Given the description of an element on the screen output the (x, y) to click on. 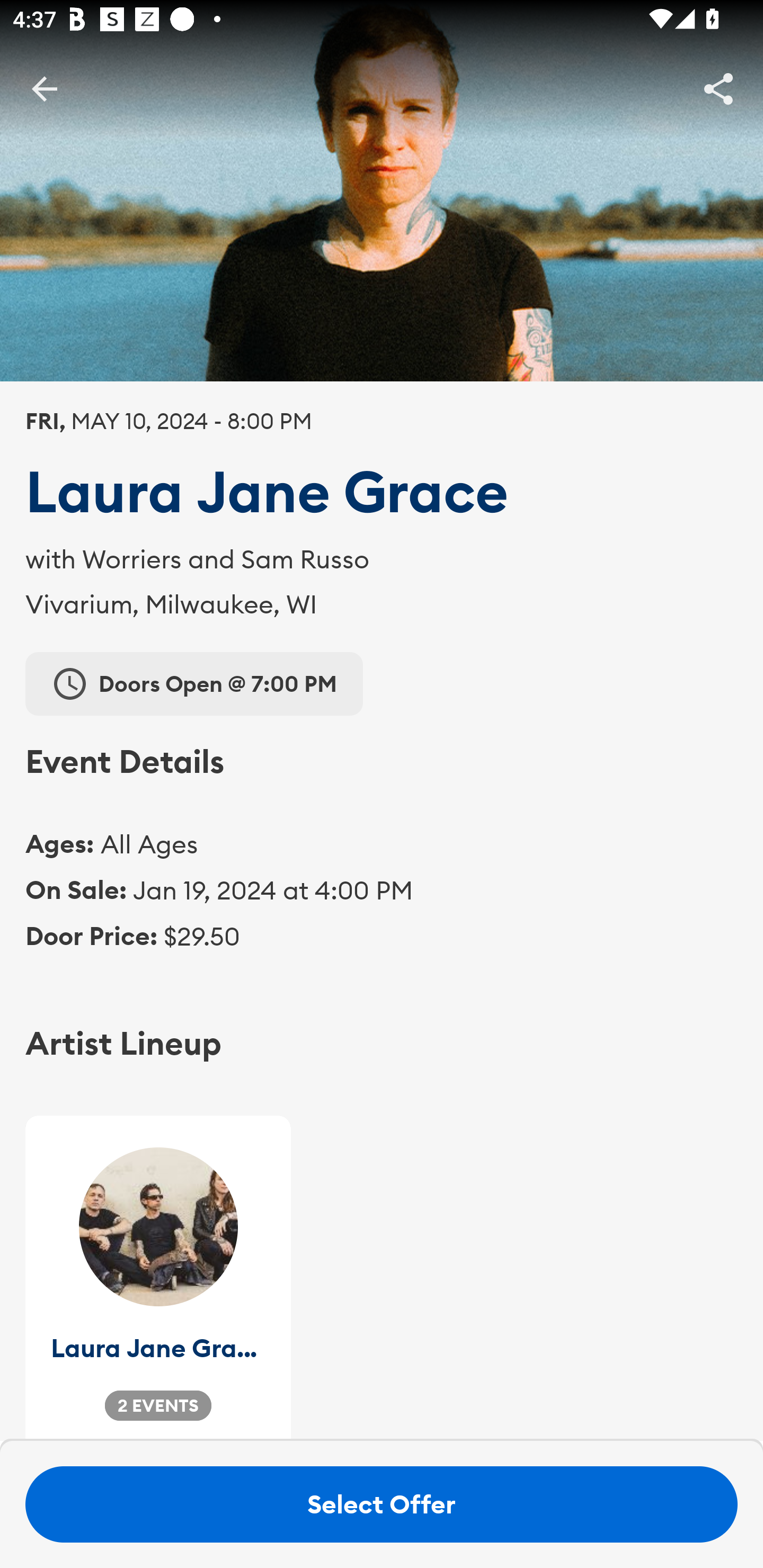
BackButton (44, 88)
Share (718, 88)
Laura Jane Grace 2 EVENTS (157, 1277)
Select Offer (381, 1504)
